Given the description of an element on the screen output the (x, y) to click on. 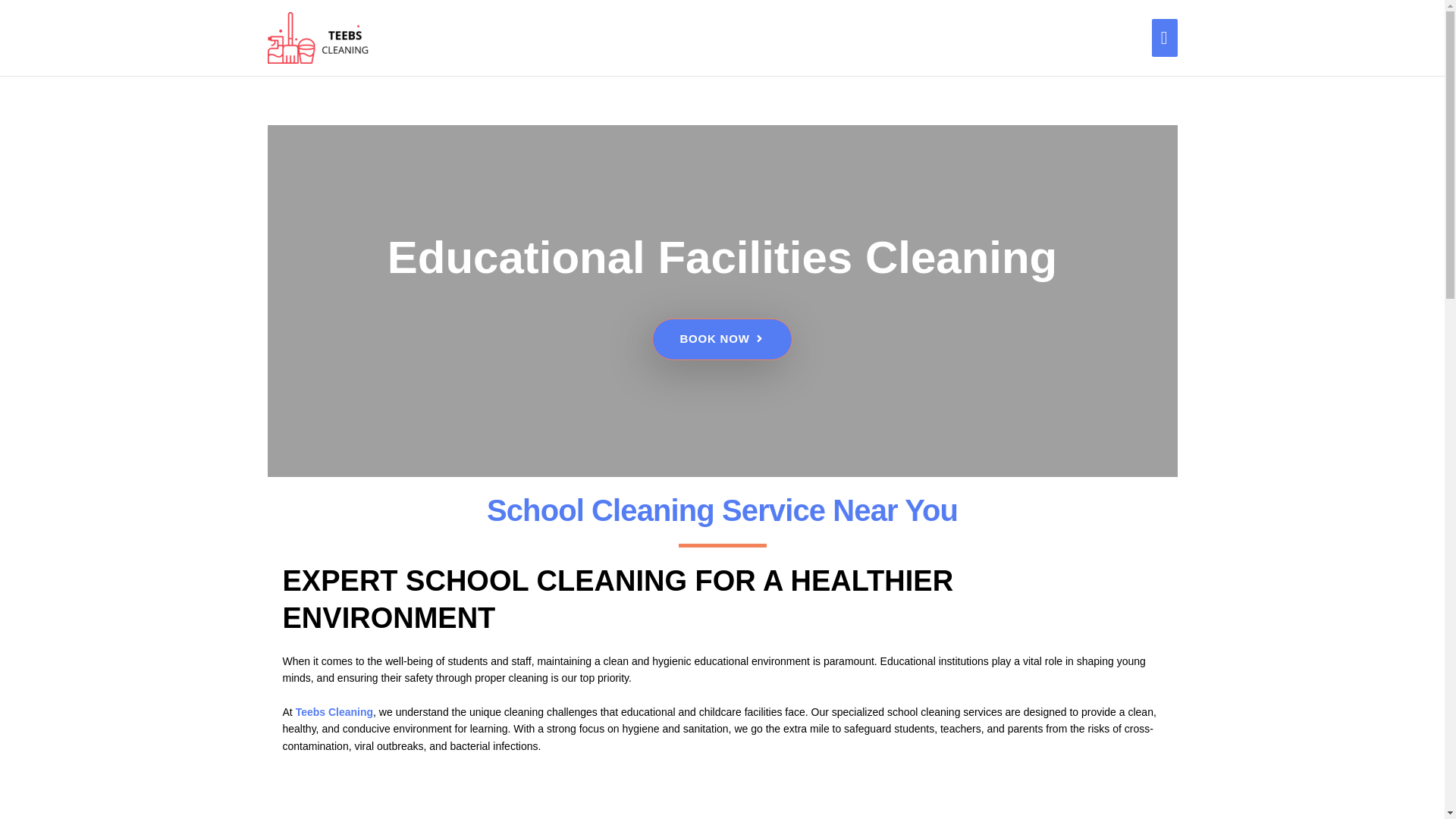
BOOK NOW (722, 339)
Teebs Cleaning (333, 711)
